Given the description of an element on the screen output the (x, y) to click on. 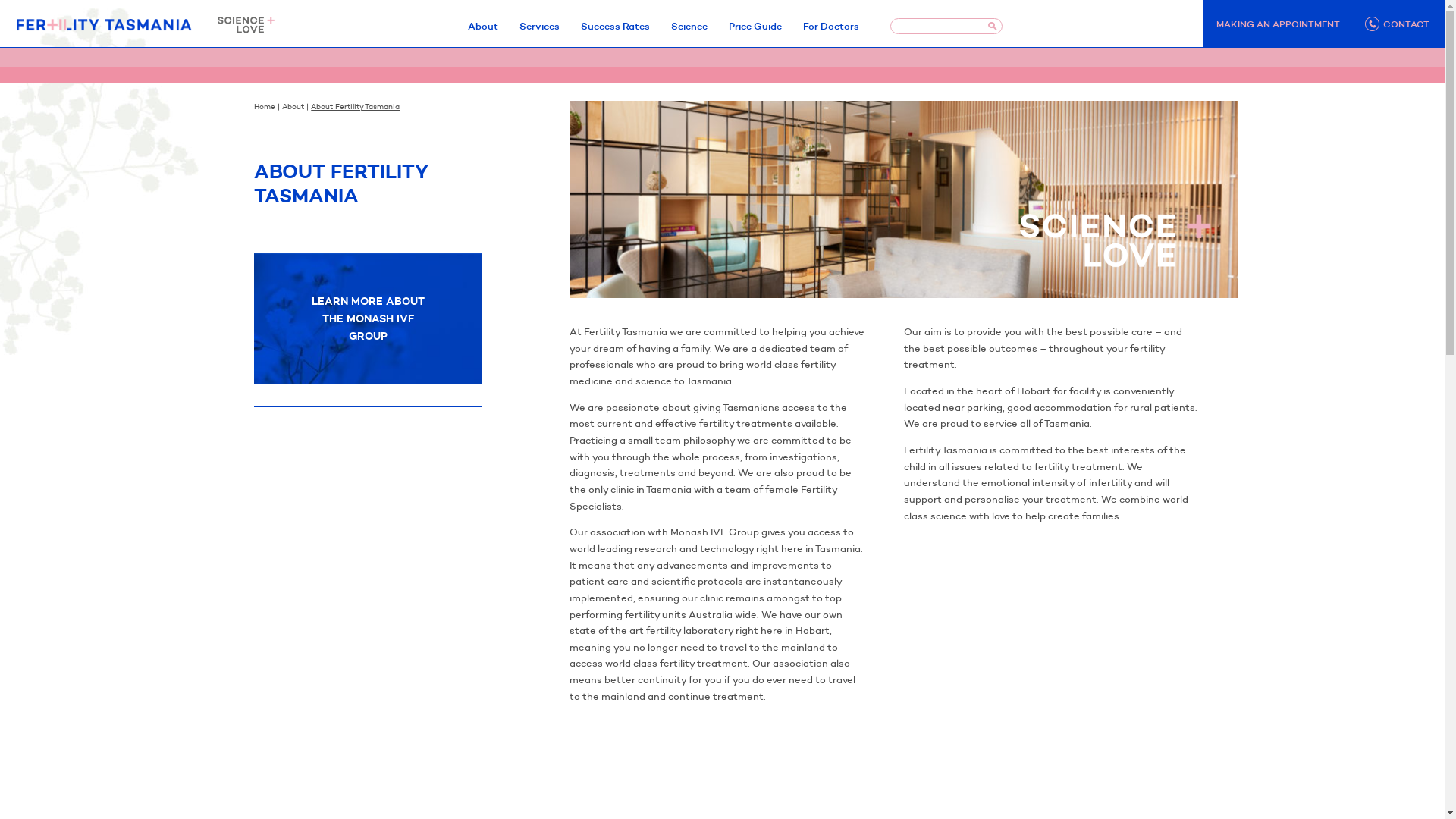
LEARN MORE ABOUT THE MONASH IVF GROUP Element type: text (367, 319)
Science Element type: text (688, 26)
For Doctors Element type: text (830, 26)
CONTACT Element type: text (1398, 23)
Price Guide Element type: text (754, 26)
Success Rates Element type: text (615, 26)
Home Element type: text (264, 106)
About Element type: text (293, 106)
About Element type: text (482, 26)
Services Element type: text (538, 26)
MAKING AN APPOINTMENT Element type: text (1278, 23)
